Given the description of an element on the screen output the (x, y) to click on. 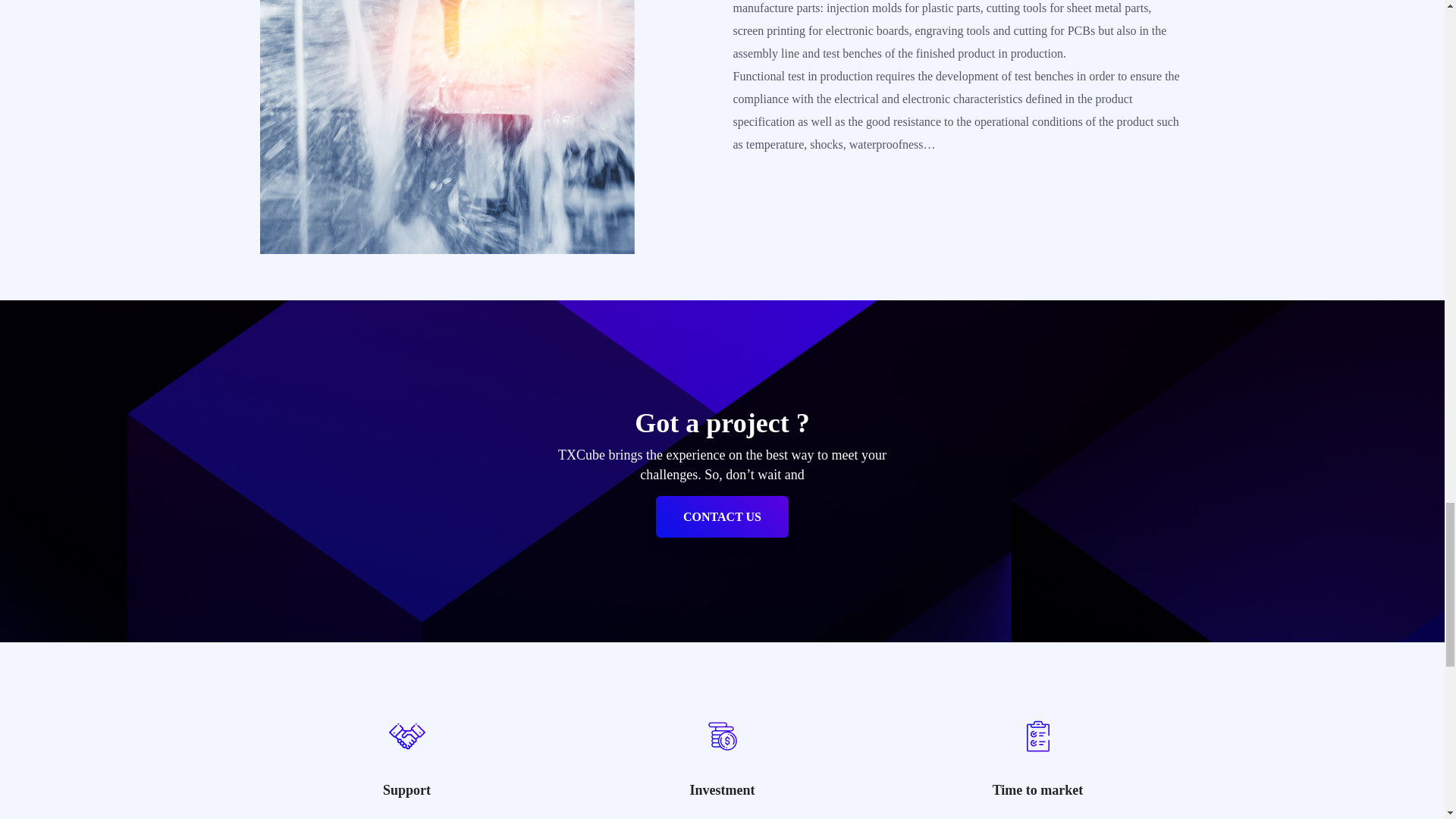
CONTACT US (722, 516)
